Given the description of an element on the screen output the (x, y) to click on. 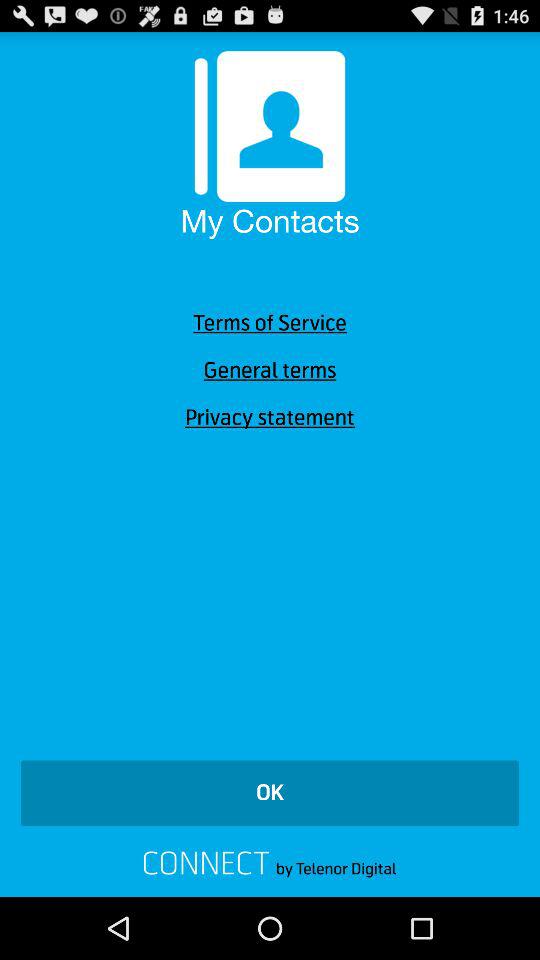
jump until the terms of service item (270, 323)
